Given the description of an element on the screen output the (x, y) to click on. 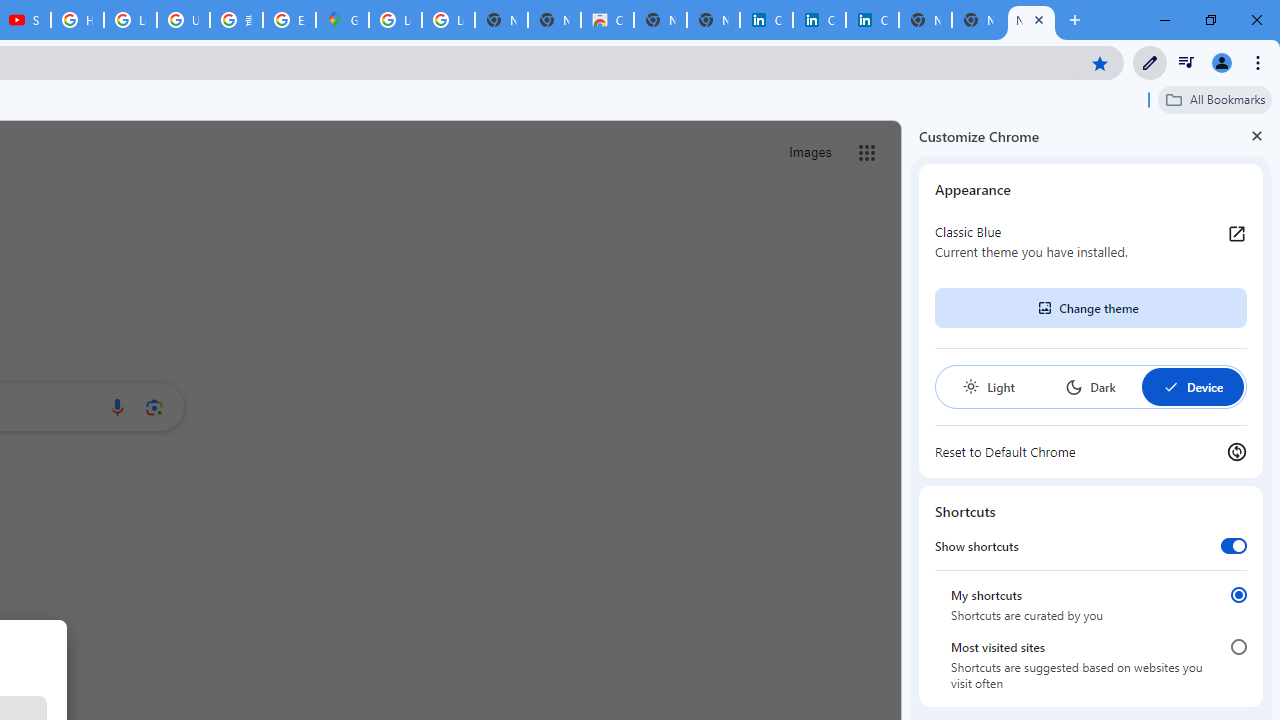
My shortcuts (1238, 594)
Change theme (1090, 308)
Reset to Default Chrome (1091, 452)
How Chrome protects your passwords - Google Chrome Help (77, 20)
Explore new street-level details - Google Maps Help (289, 20)
AutomationID: baseSvg (1170, 386)
Dark (1090, 386)
